Given the description of an element on the screen output the (x, y) to click on. 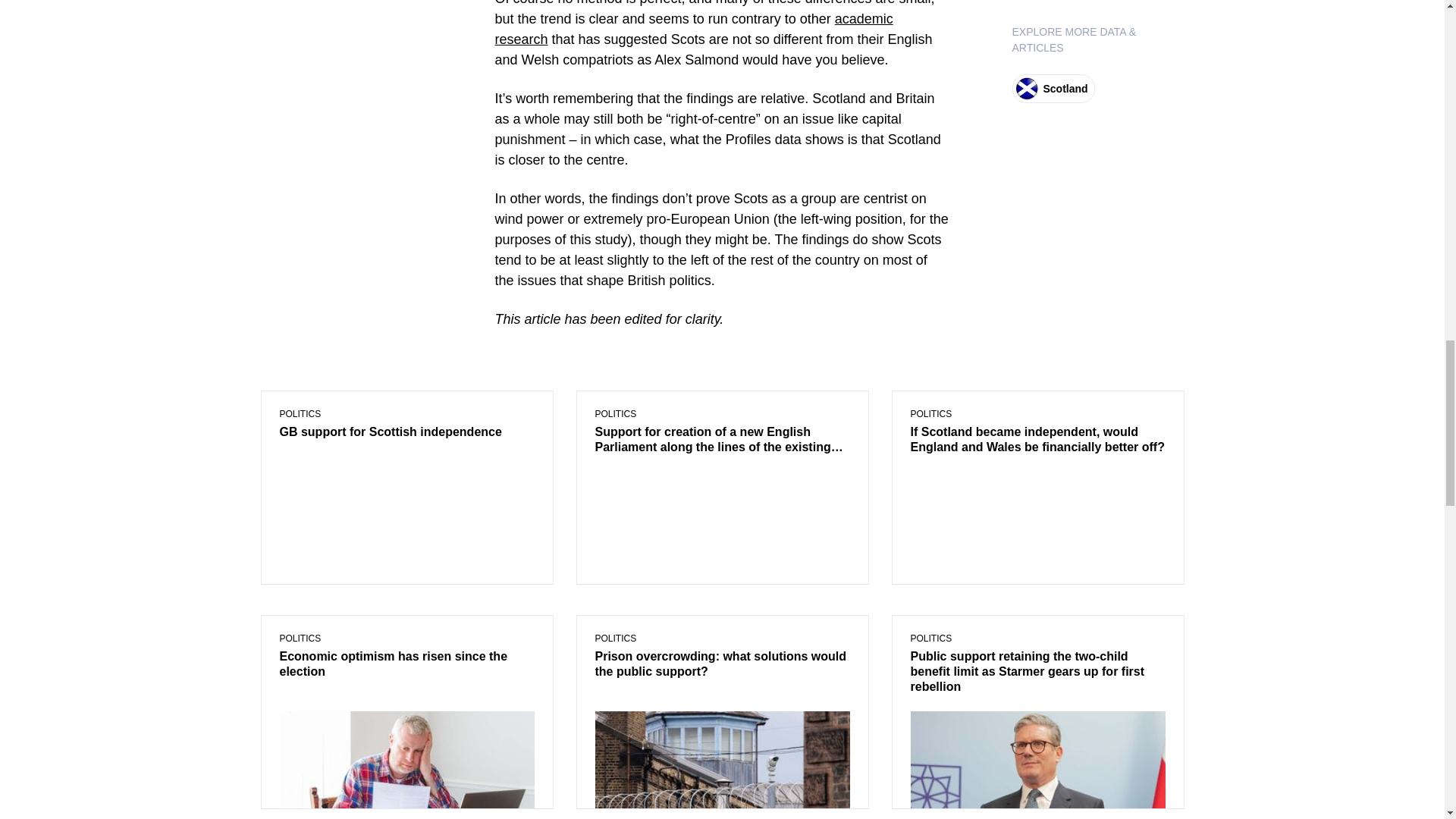
GB support for Scottish independence (406, 433)
Economic optimism has risen since the election (406, 664)
